Given the description of an element on the screen output the (x, y) to click on. 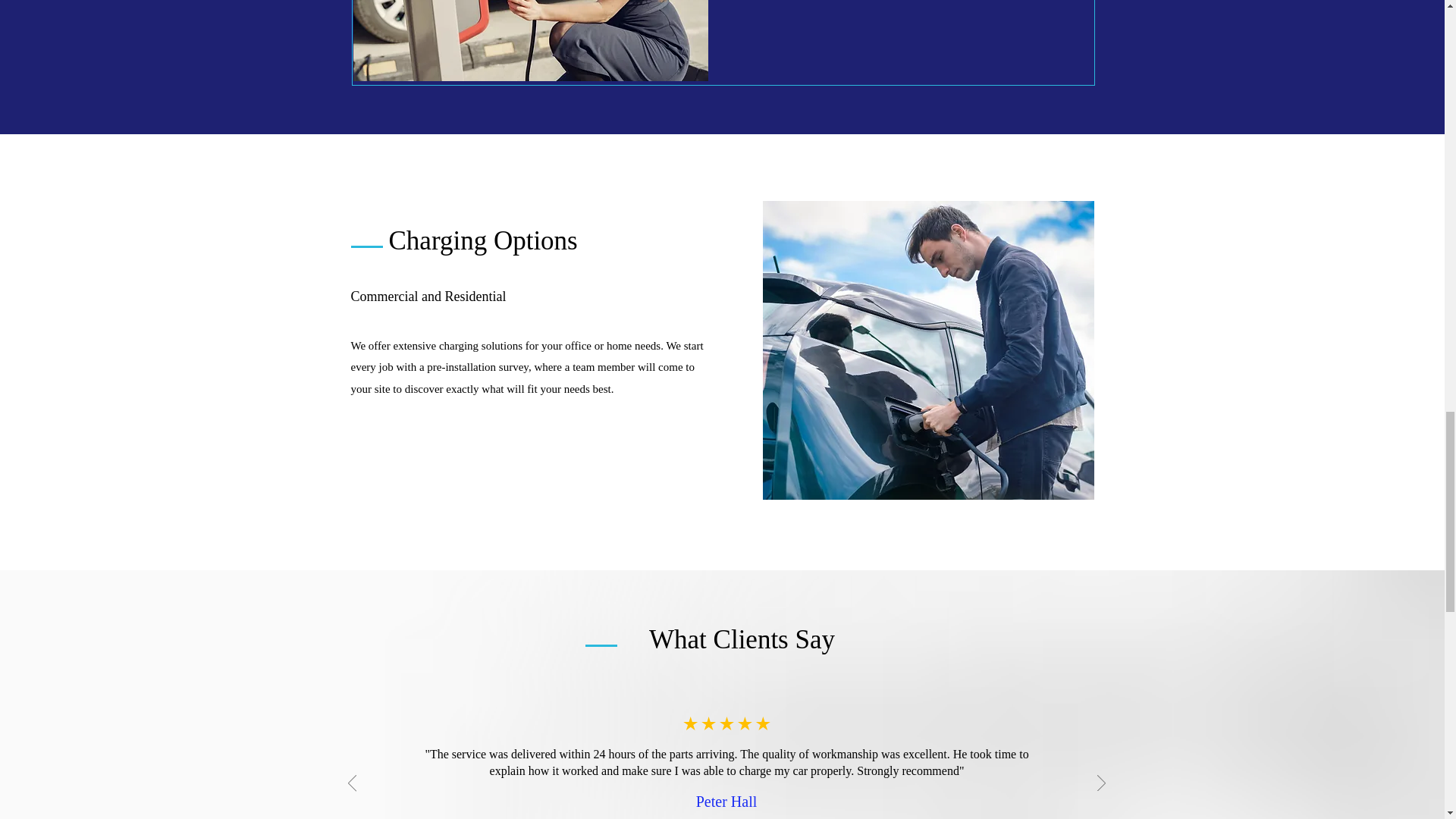
Peter Hall (726, 801)
a woman in a blue dress is charging her car.	 (530, 40)
a man plugging his car into an electric charger (928, 349)
